Given the description of an element on the screen output the (x, y) to click on. 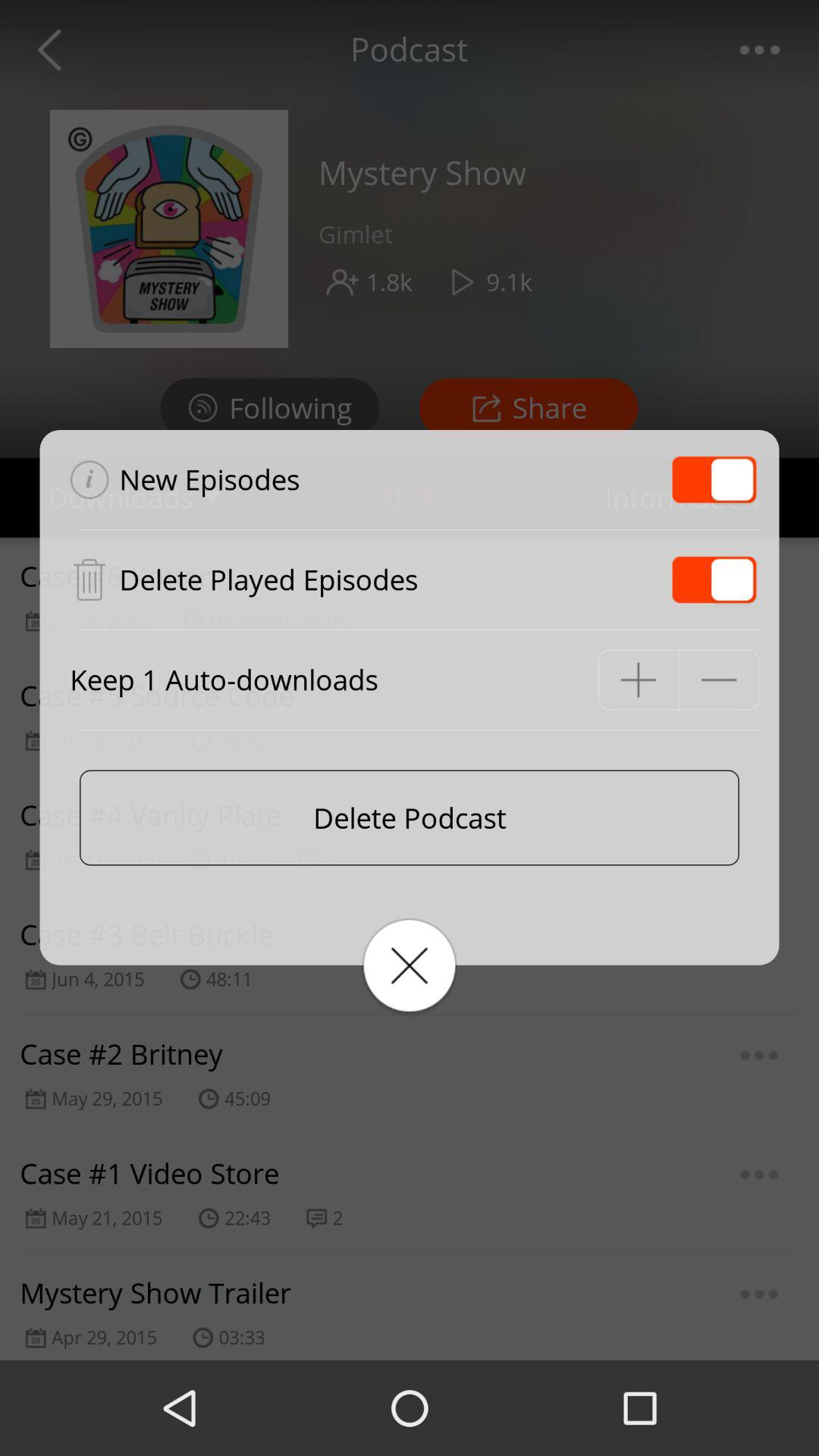
turn on item next to the new episodes (714, 479)
